Given the description of an element on the screen output the (x, y) to click on. 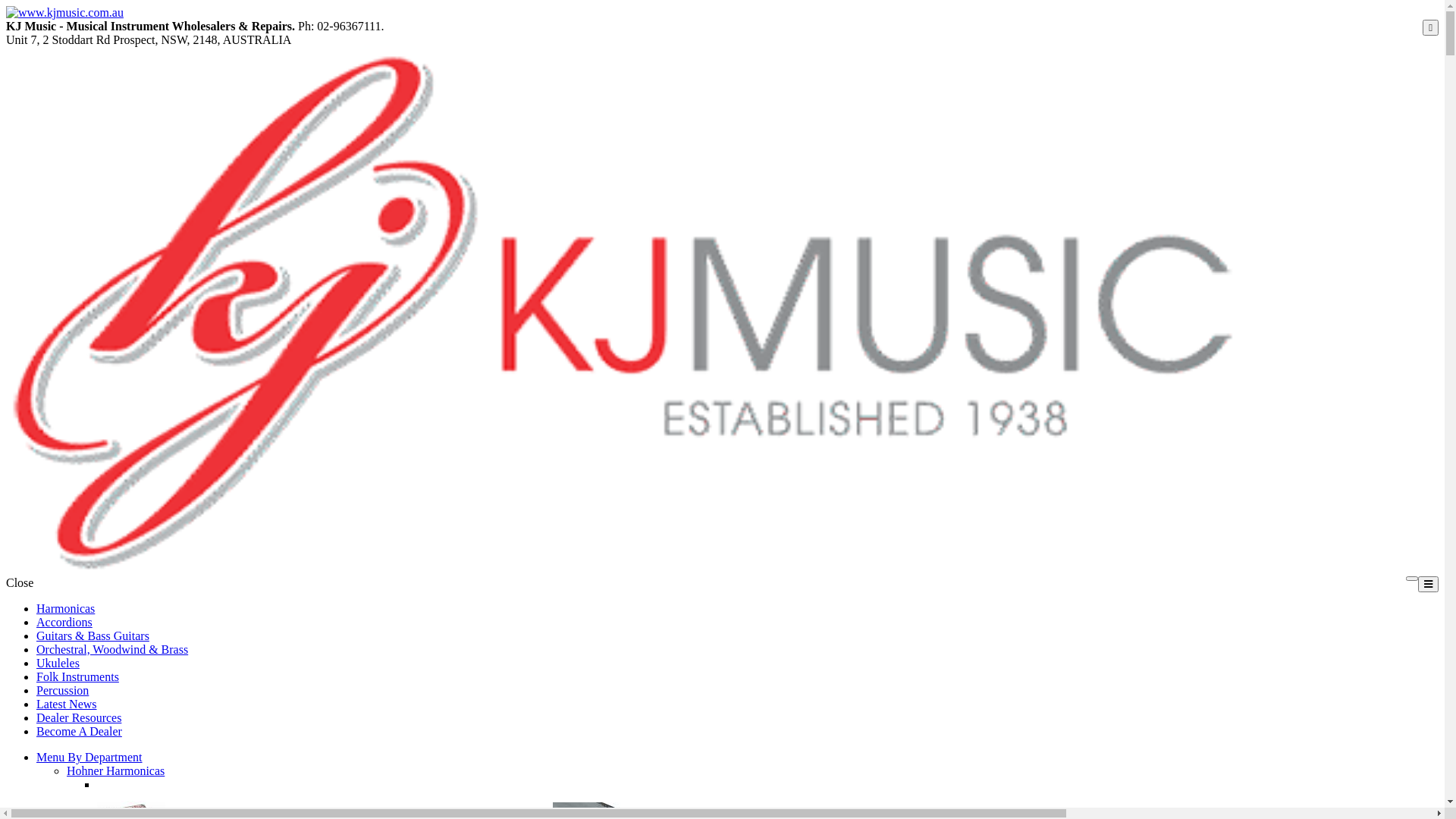
Skip to navigation Element type: text (5, 5)
Become A Dealer Element type: text (79, 730)
Dealer Resources Element type: text (78, 717)
Guitars & Bass Guitars Element type: text (92, 635)
Latest News Element type: text (66, 703)
Hohner Harmonicas Element type: text (115, 770)
Menu By Department Element type: text (89, 756)
Percussion Element type: text (62, 690)
Ukuleles Element type: text (57, 662)
Folk Instruments Element type: text (77, 676)
Accordions Element type: text (64, 621)
Harmonicas Element type: text (65, 608)
Orchestral, Woodwind & Brass Element type: text (112, 649)
